Given the description of an element on the screen output the (x, y) to click on. 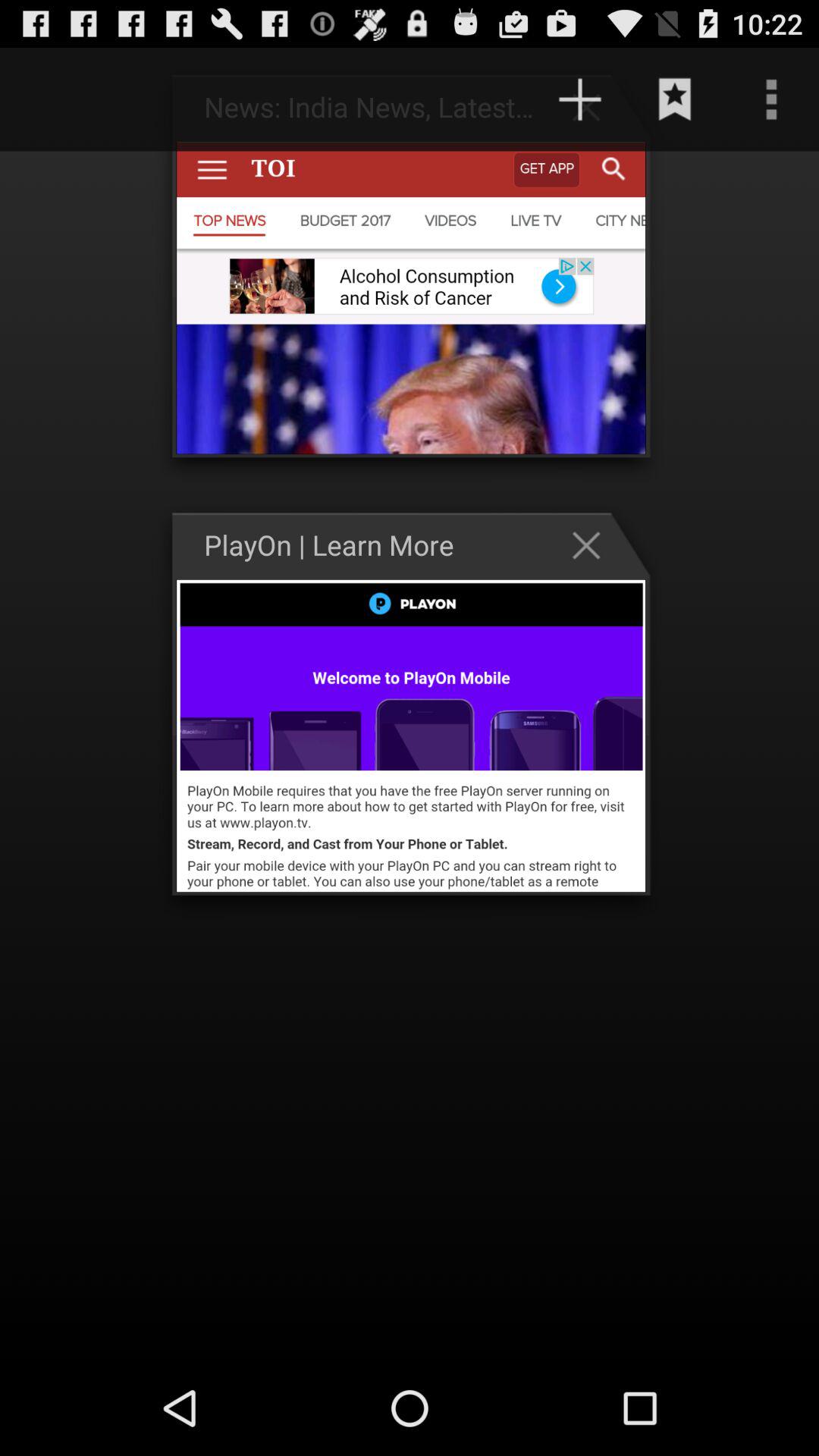
open the item at the top left corner (62, 99)
